Given the description of an element on the screen output the (x, y) to click on. 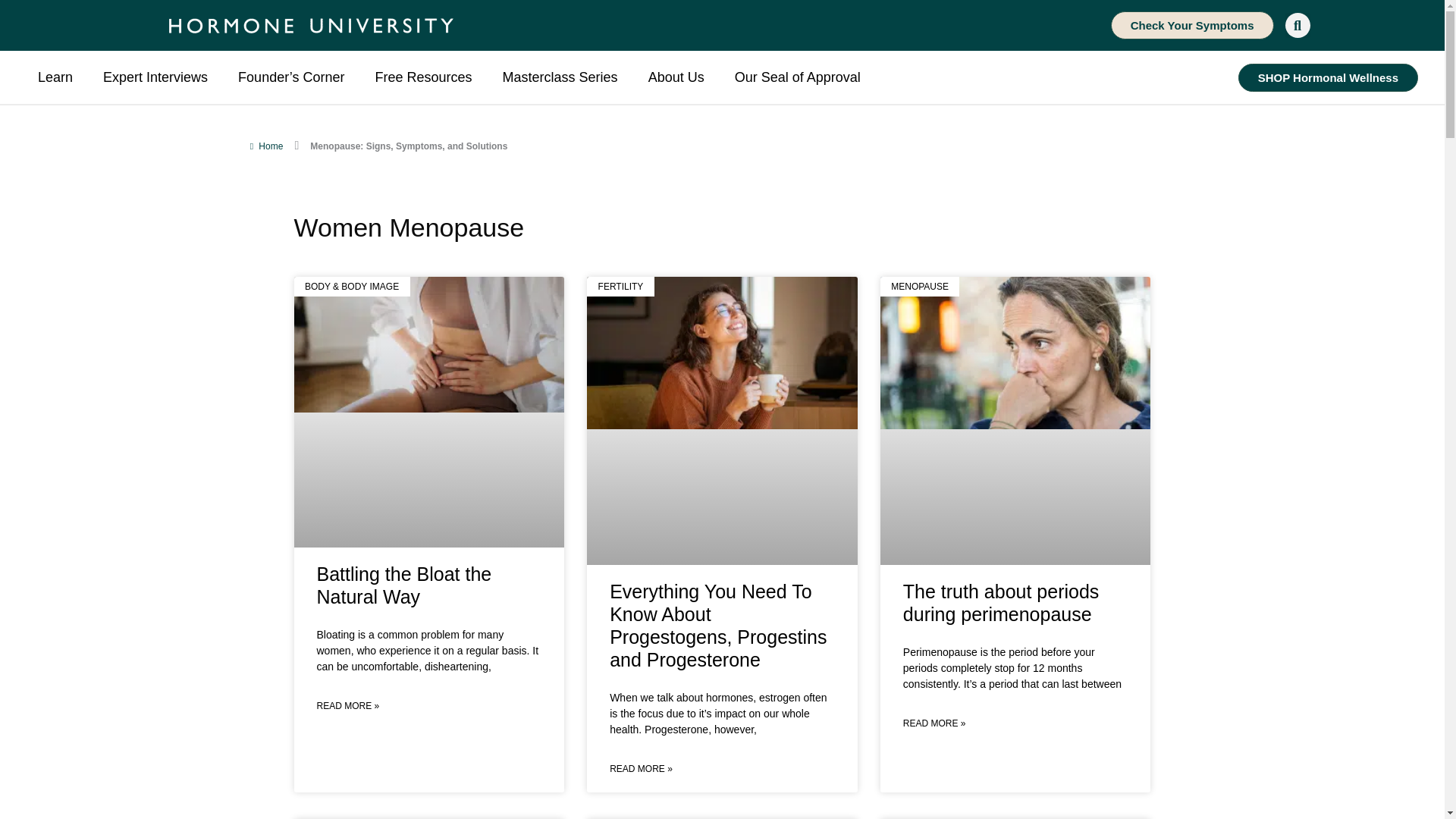
Home (264, 146)
Menopause: Signs, Symptoms, and Solutions (408, 146)
